Given the description of an element on the screen output the (x, y) to click on. 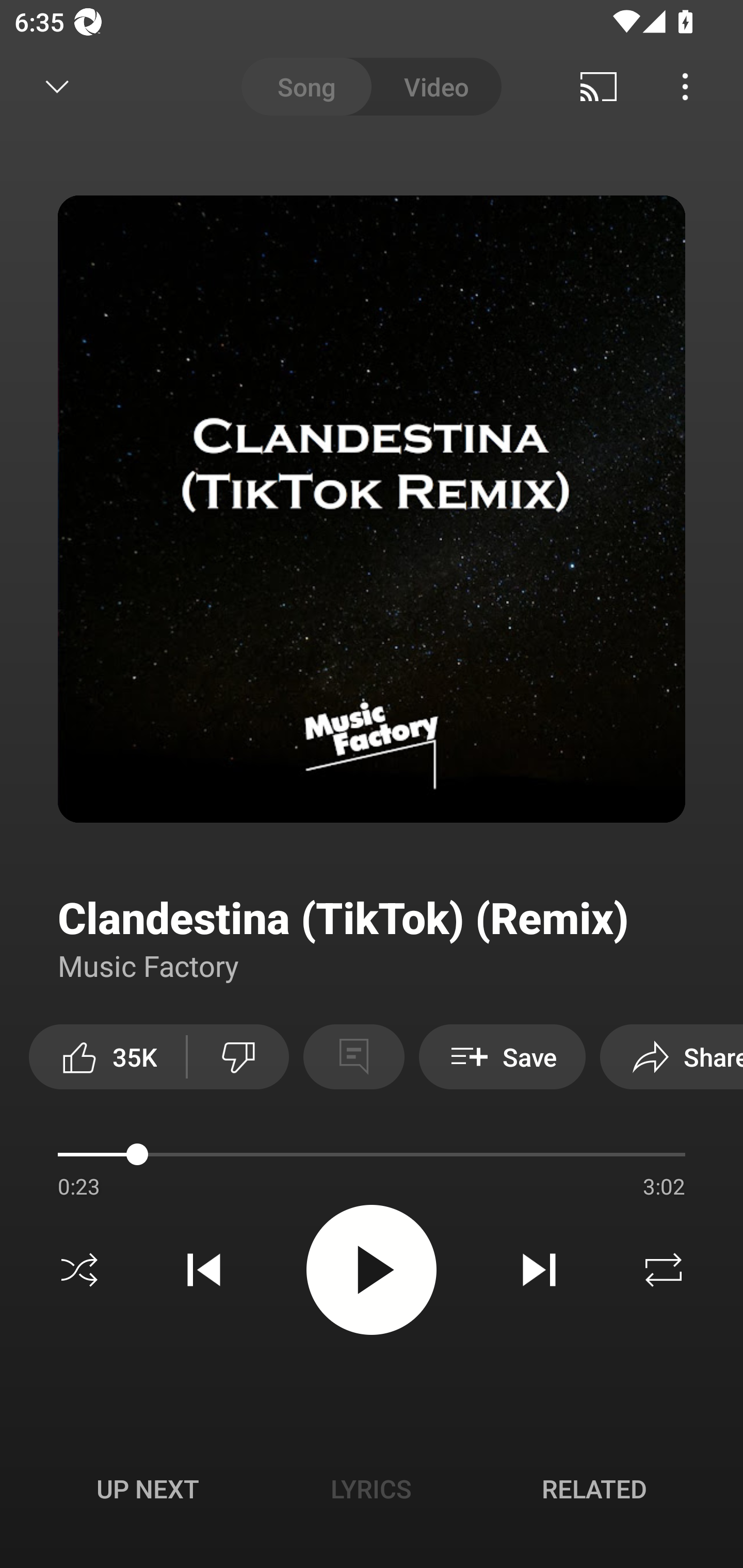
Search back (43, 86)
Cast. Disconnected (598, 86)
Menu (684, 86)
Music Factory (148, 964)
35K like this video along with 35,710 other people (106, 1056)
Dislike (238, 1056)
Comments disabled. (353, 1056)
Save Save to playlist (502, 1056)
Share (671, 1056)
Play video (371, 1269)
Shuffle off (79, 1269)
Previous track (203, 1269)
Next track (538, 1269)
Repeat off (663, 1269)
Up next UP NEXT Lyrics LYRICS Related RELATED (371, 1491)
Lyrics LYRICS (370, 1488)
Related RELATED (594, 1488)
